Given the description of an element on the screen output the (x, y) to click on. 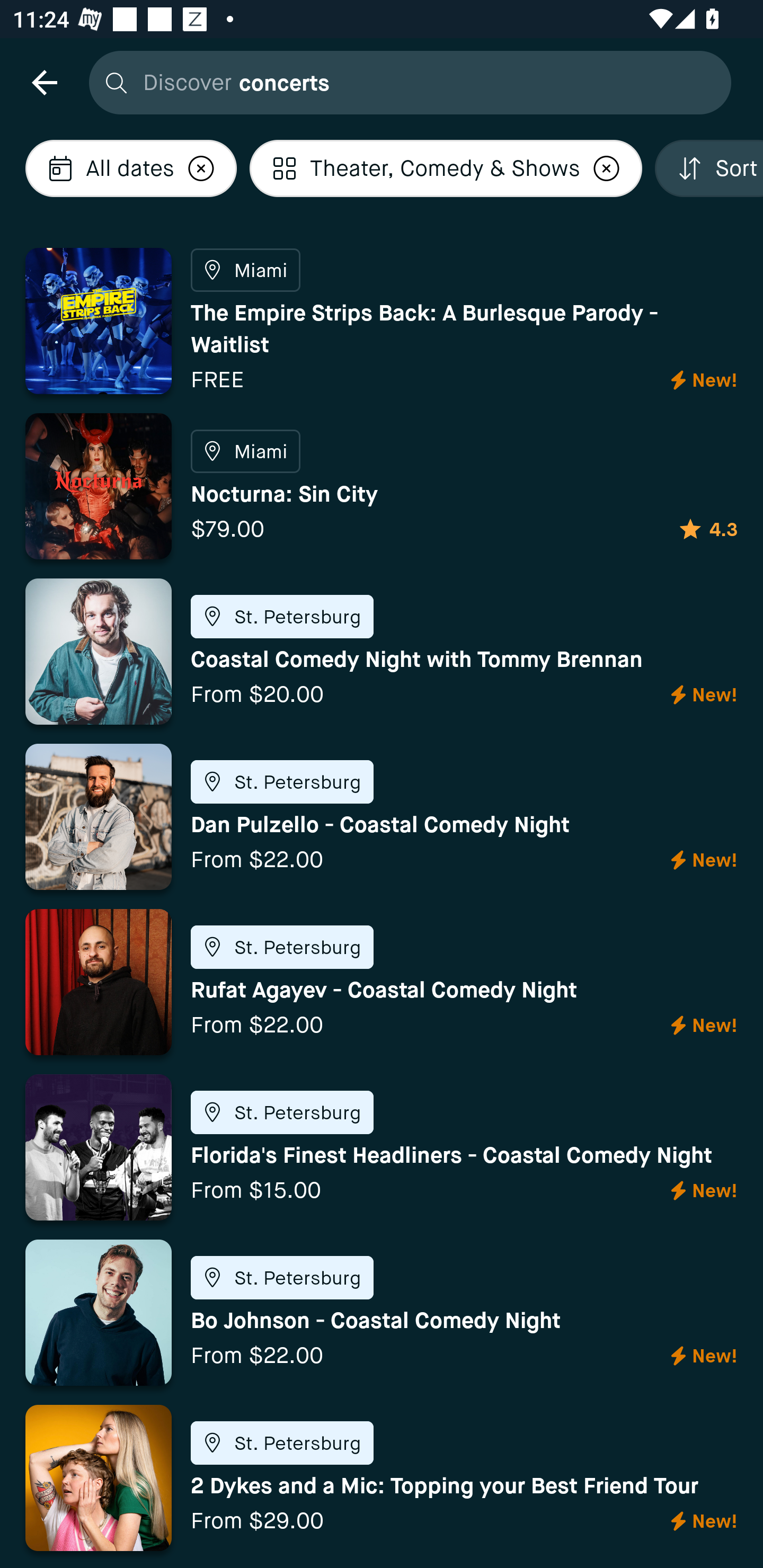
navigation icon (44, 81)
Discover concerts (405, 81)
Localized description (201, 168)
Localized description (606, 168)
Localized description Sort (708, 168)
